Given the description of an element on the screen output the (x, y) to click on. 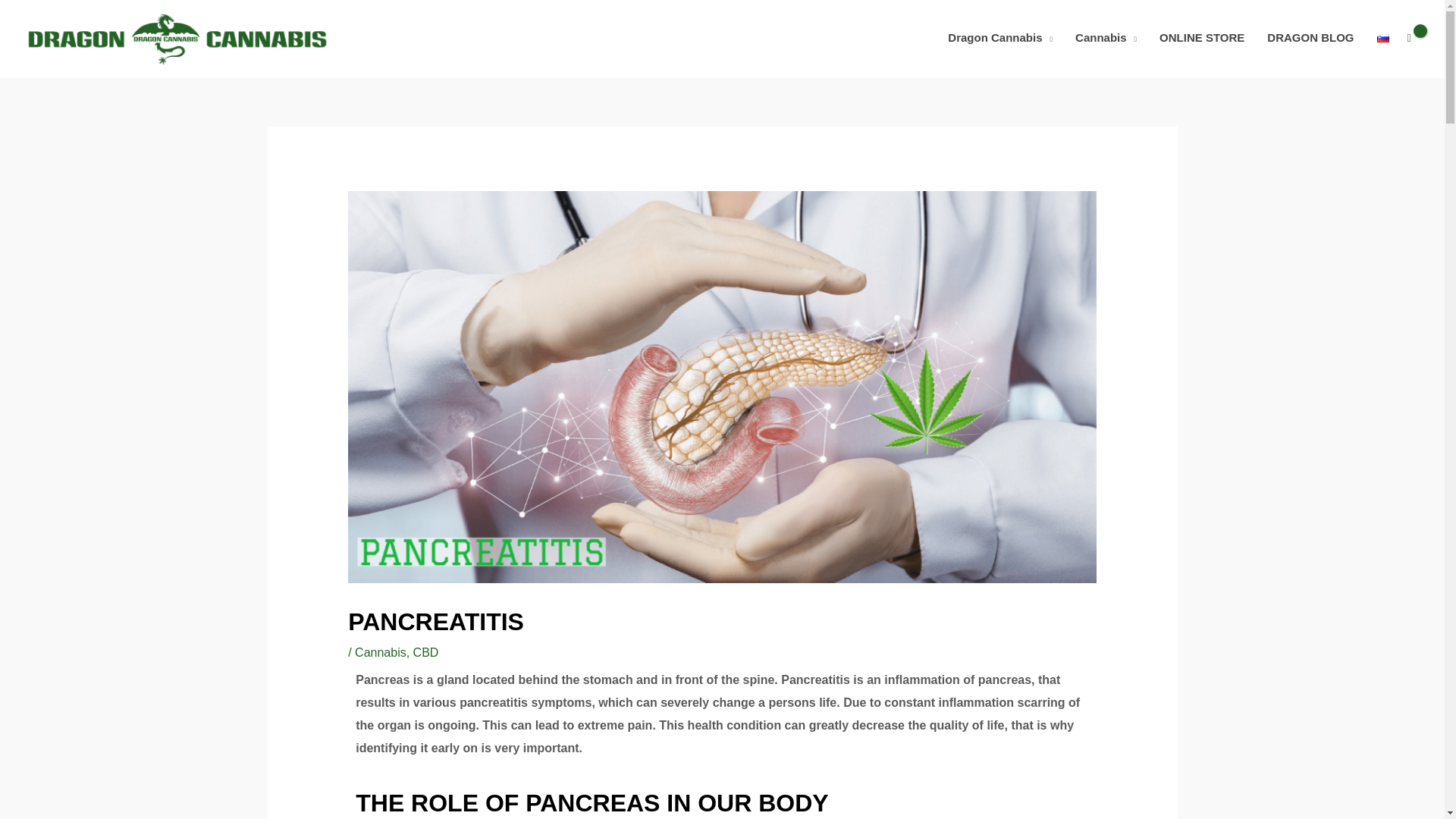
ONLINE STORE (1201, 37)
Dragon Cannabis (1000, 37)
CBD (426, 652)
Cannabis (1106, 37)
Cannabis (380, 652)
DRAGON BLOG (1310, 37)
